Given the description of an element on the screen output the (x, y) to click on. 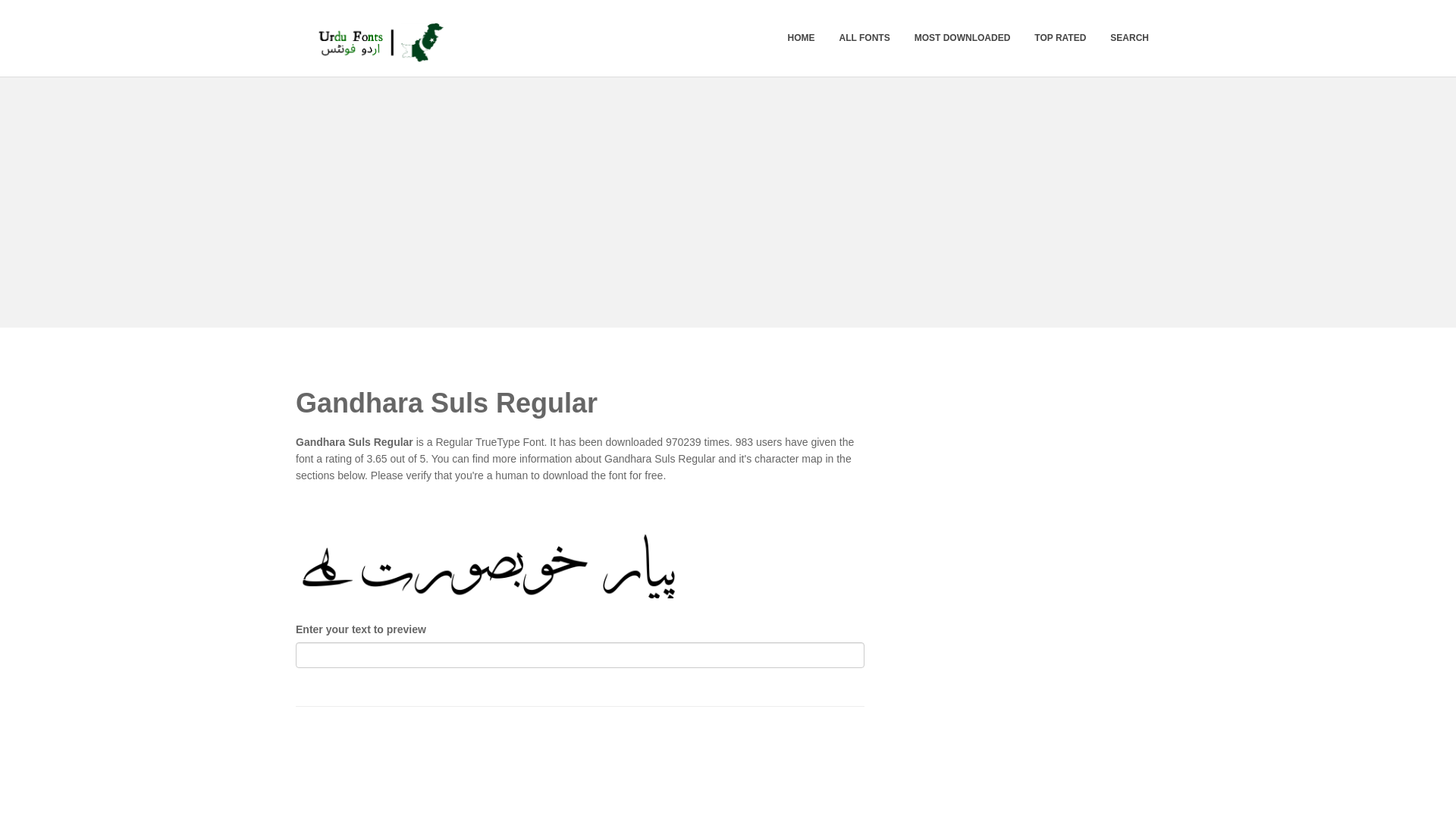
TOP RATED (1060, 38)
SEARCH (1129, 38)
HOME (801, 38)
MOST DOWNLOADED (962, 38)
ALL FONTS (864, 38)
